Given the description of an element on the screen output the (x, y) to click on. 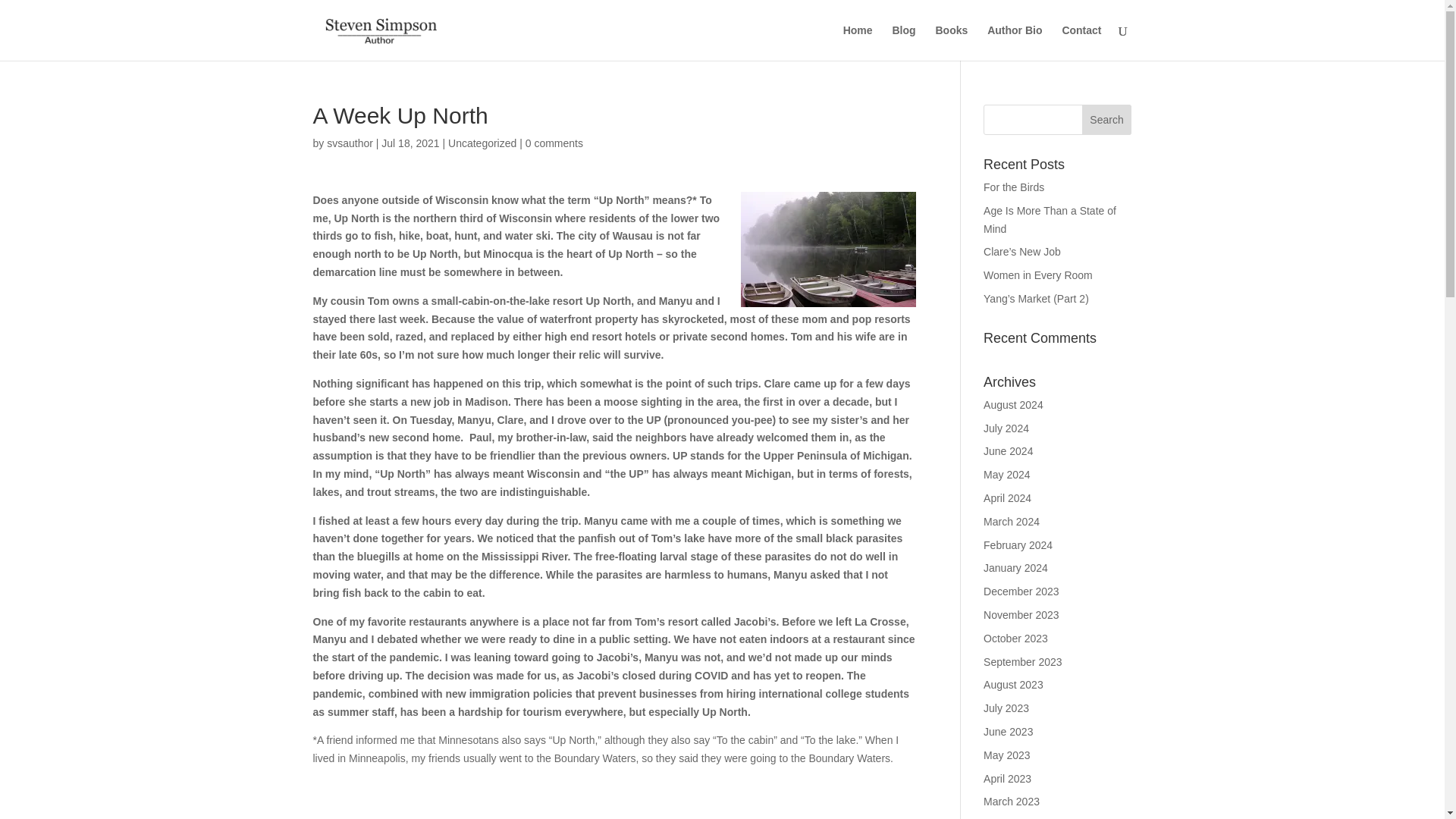
June 2023 (1008, 731)
June 2024 (1008, 451)
August 2023 (1013, 684)
February 2024 (1018, 544)
For the Birds (1013, 186)
September 2023 (1023, 662)
May 2023 (1006, 755)
July 2023 (1006, 707)
Age Is More Than a State of Mind (1050, 219)
Women in Every Room (1038, 275)
